Given the description of an element on the screen output the (x, y) to click on. 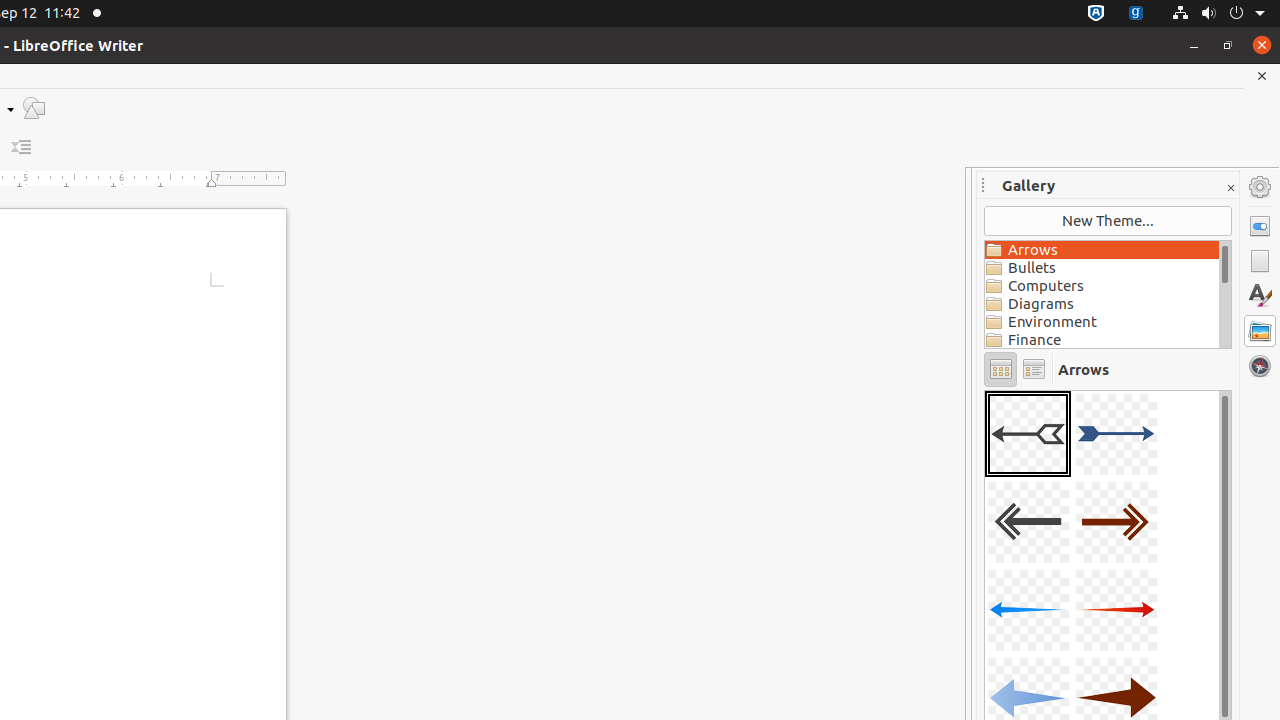
Page Element type: radio-button (1260, 261)
A23-CurvedArrow-Gray-Left Element type: list-item (985, 390)
A01-Arrow-Gray-Left Element type: list-item (1028, 433)
:1.72/StatusNotifierItem Element type: menu (1096, 13)
Gallery Element type: radio-button (1260, 331)
